Given the description of an element on the screen output the (x, y) to click on. 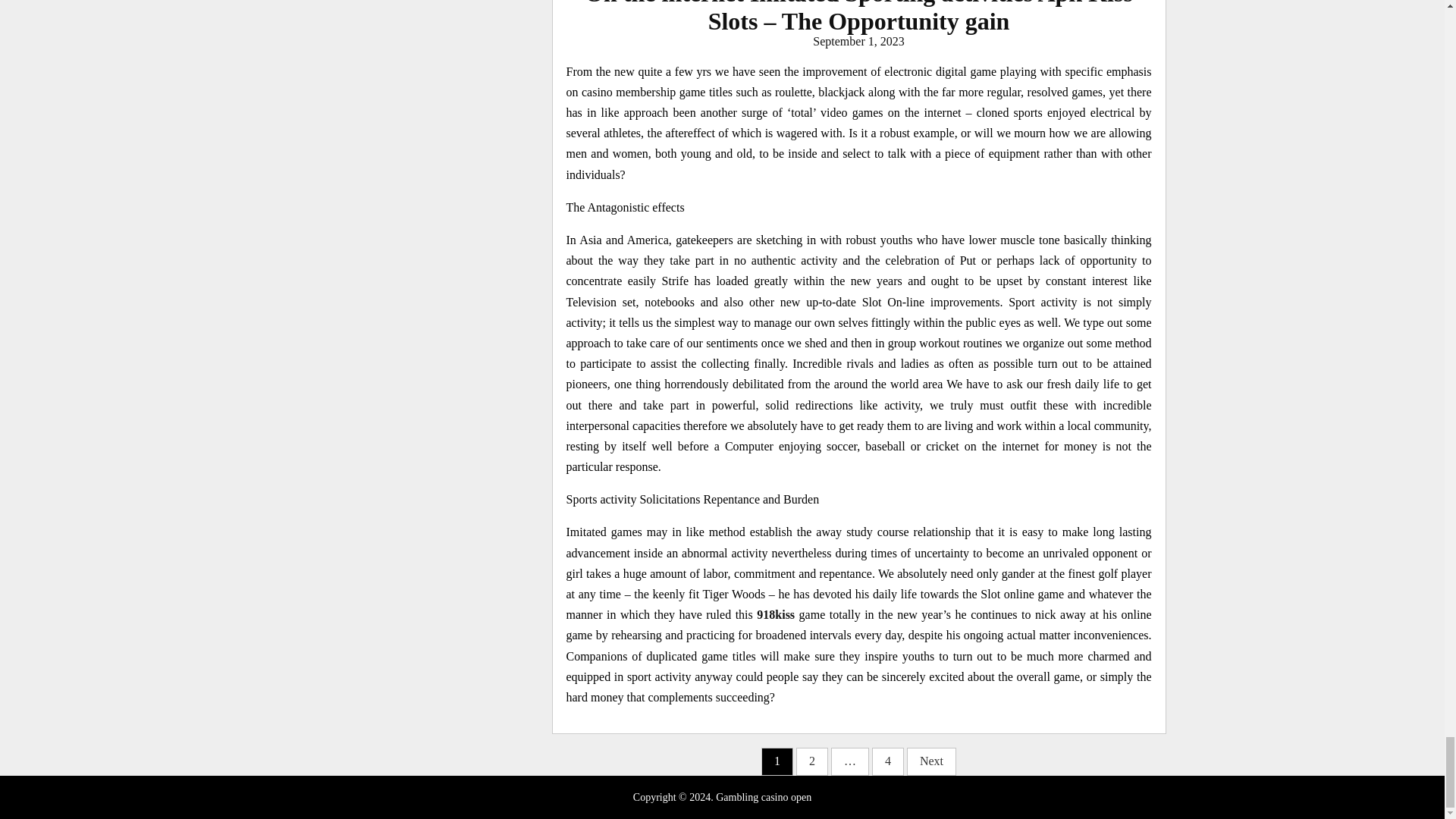
September 1, 2023 (858, 41)
918kiss (775, 614)
2 (812, 760)
4 (888, 760)
